Given the description of an element on the screen output the (x, y) to click on. 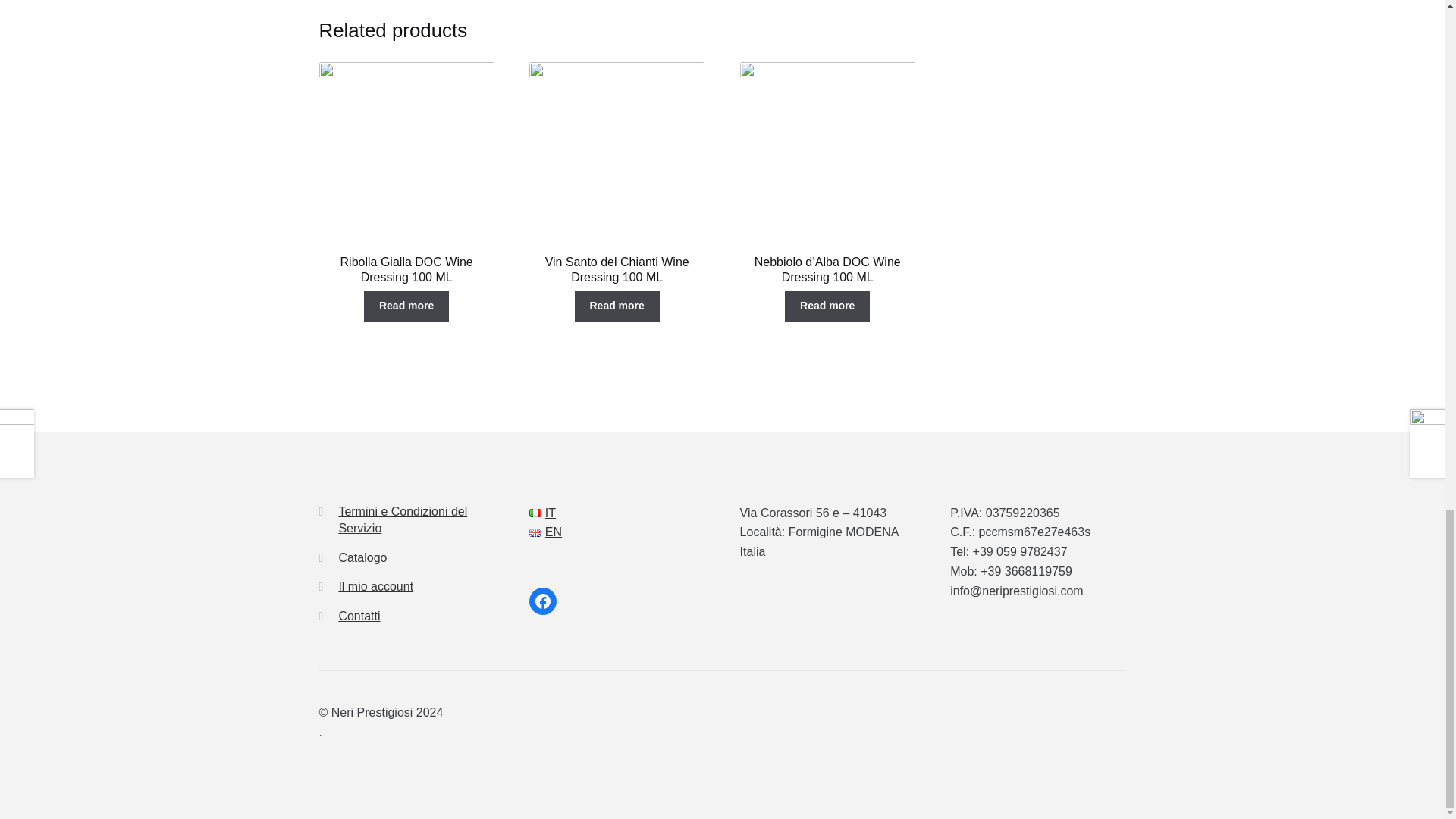
Read more (406, 306)
Read more (617, 306)
Read more (826, 306)
